Given the description of an element on the screen output the (x, y) to click on. 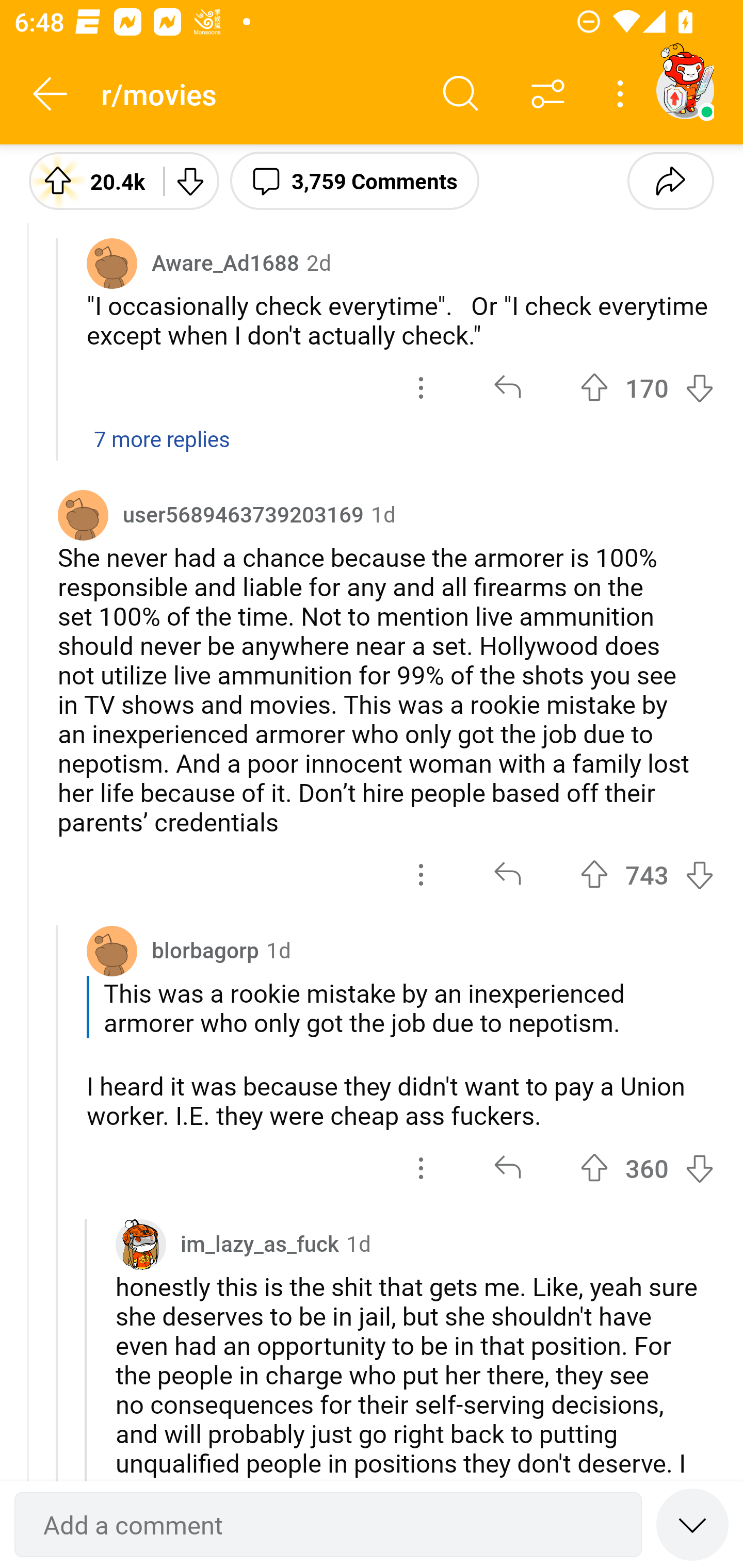
Back (50, 93)
TestAppium002 account (685, 90)
Search comments (460, 93)
Sort comments (547, 93)
More options (623, 93)
r/movies (259, 92)
Upvote 20.4k (88, 180)
Downvote (189, 180)
3,759 Comments (354, 180)
Share (670, 180)
Avatar (111, 263)
options (420, 387)
Upvote 170 170 votes Downvote (647, 387)
7 more replies (371, 449)
Avatar (82, 514)
options (420, 874)
Upvote 743 743 votes Downvote (647, 874)
Avatar (111, 950)
options (420, 1168)
Upvote 360 360 votes Downvote (647, 1168)
Custom avatar (140, 1244)
Speed read (692, 1524)
Add a comment (327, 1524)
